Given the description of an element on the screen output the (x, y) to click on. 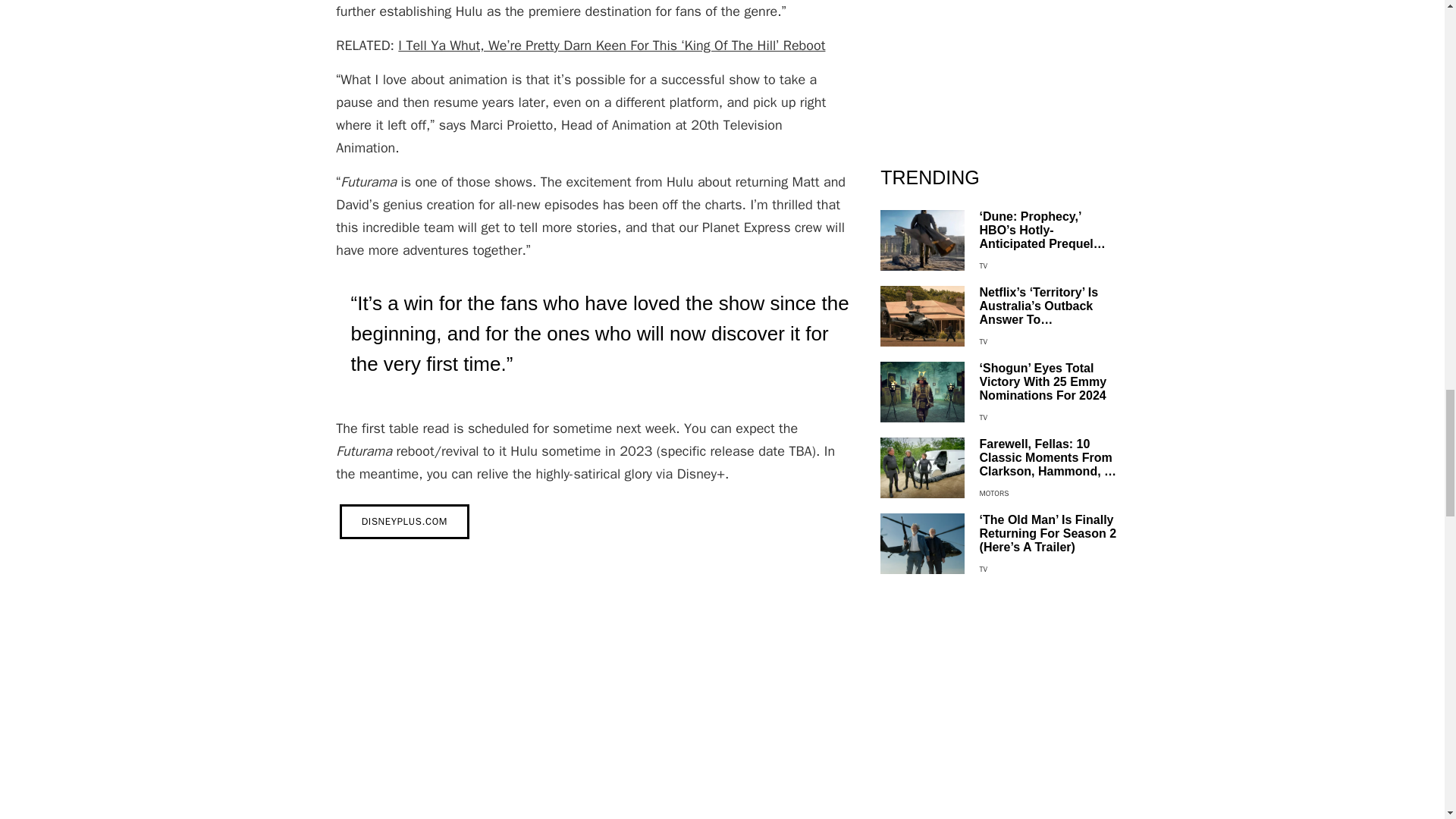
Futurama Moments that Aged a Bit Too Well (592, 688)
